Given the description of an element on the screen output the (x, y) to click on. 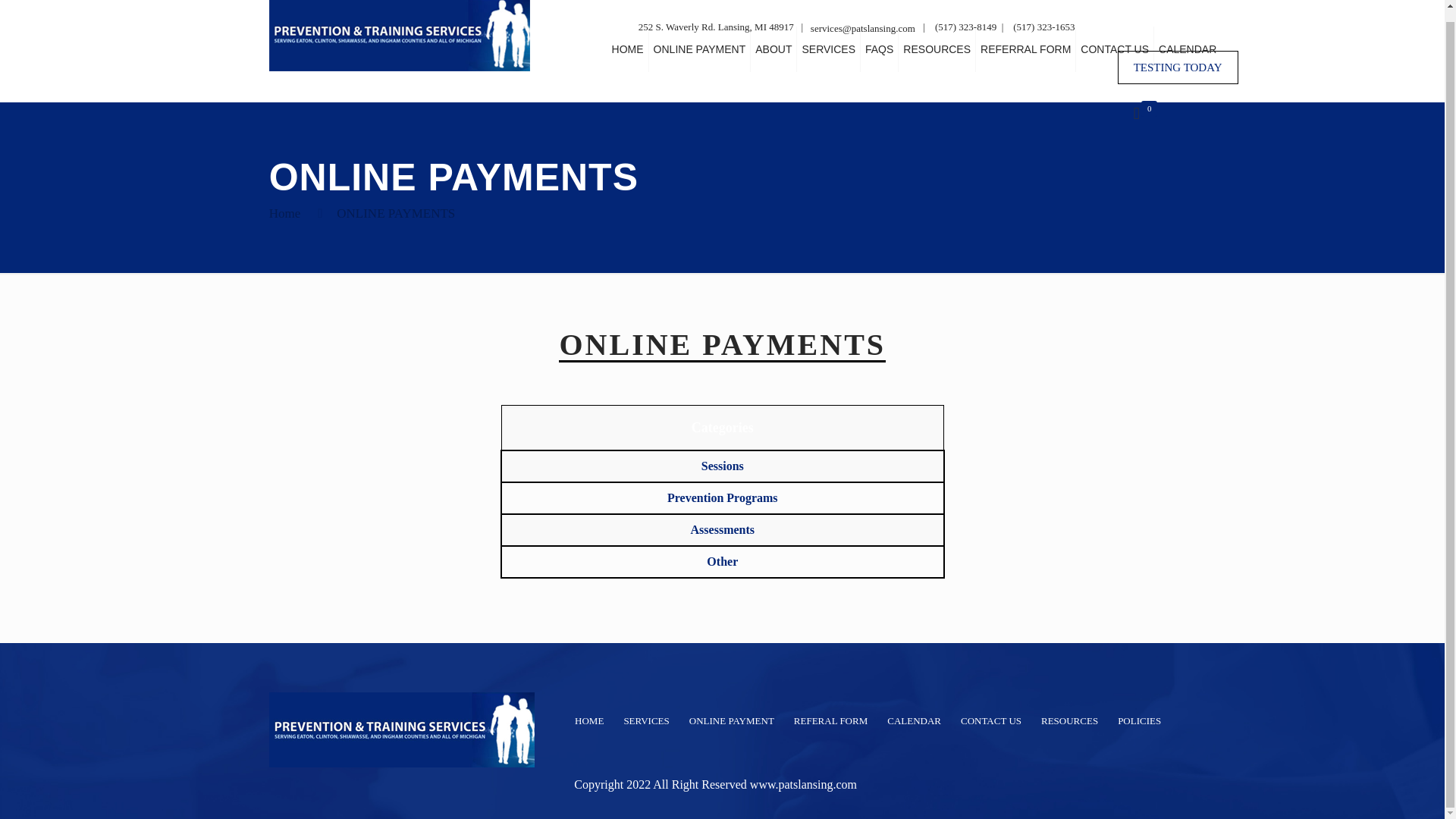
SERVICES (828, 49)
RESOURCES (936, 49)
CALENDAR (1187, 49)
Home (285, 213)
REFERRAL FORM (1025, 49)
CONTACT US (1114, 49)
0 (1144, 114)
TESTING TODAY (1178, 67)
Sessions (721, 465)
patslansing (399, 39)
ONLINE PAYMENT (700, 49)
